Given the description of an element on the screen output the (x, y) to click on. 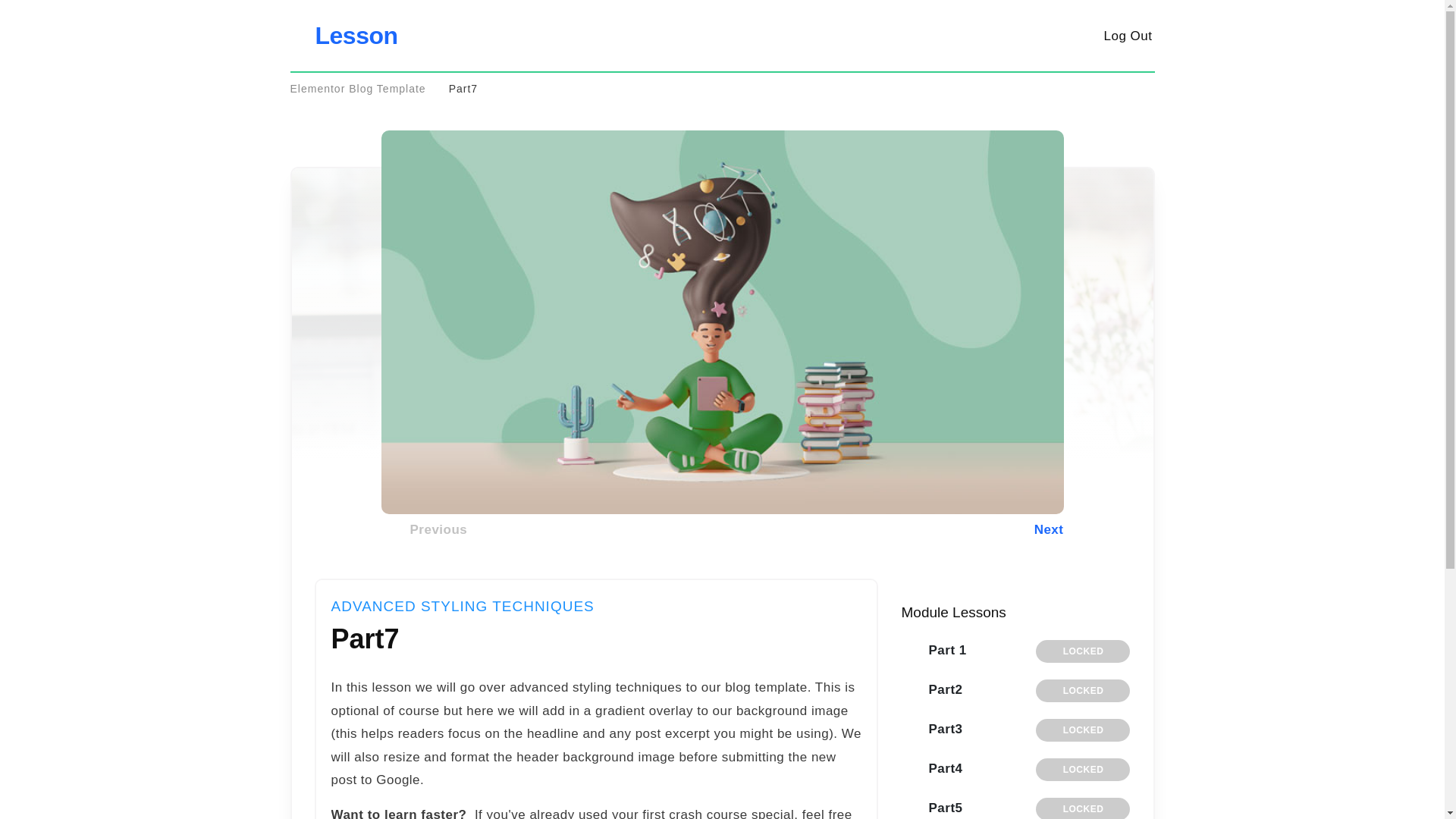
Next (965, 529)
Part7 (462, 89)
LOCKED (1082, 769)
LOCKED (1082, 650)
LOCKED (1082, 808)
Log Out (1127, 35)
LOCKED (1082, 730)
LOCKED (1082, 690)
Elementor Blog Template (357, 89)
Previous (437, 529)
